Given the description of an element on the screen output the (x, y) to click on. 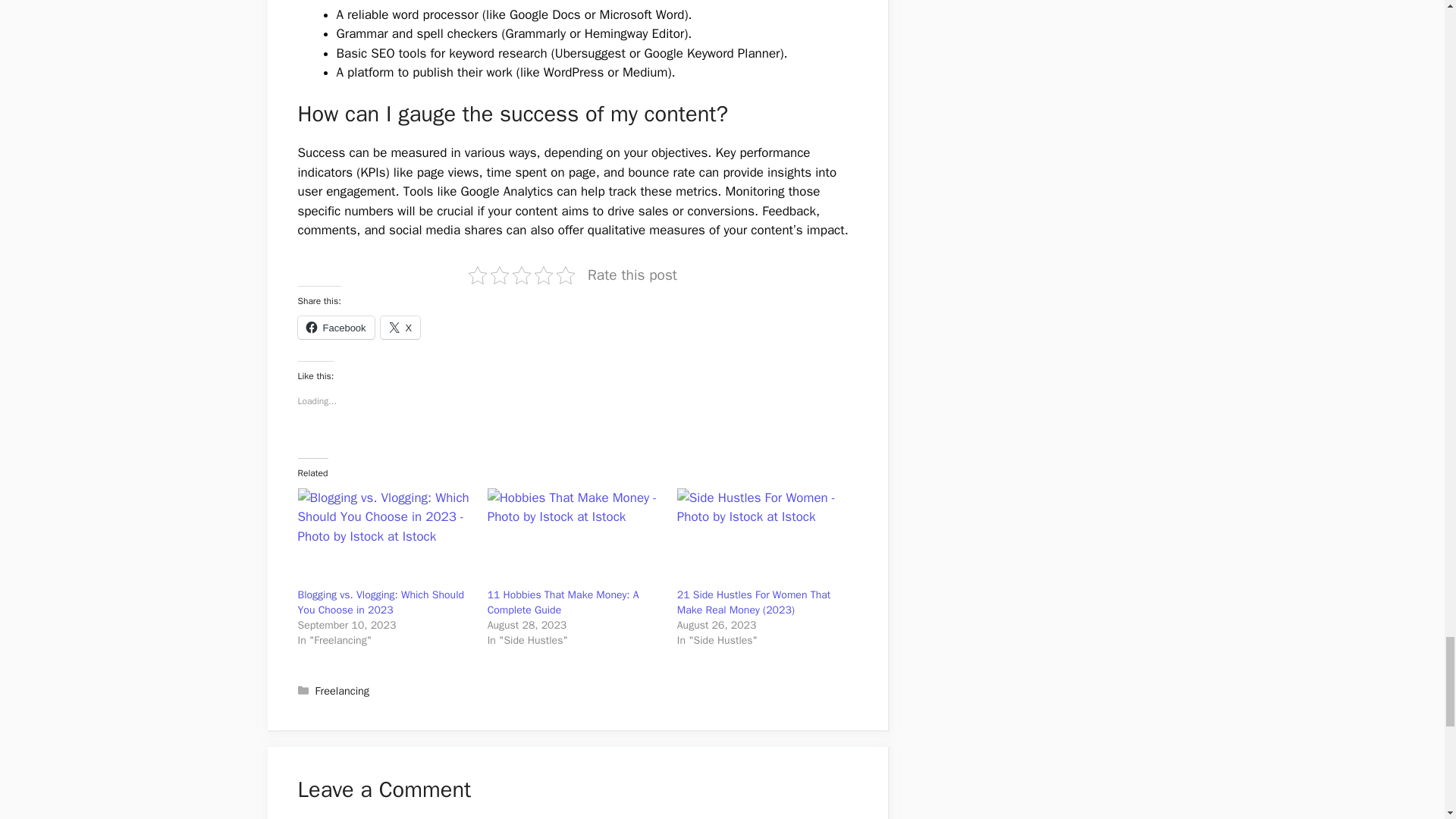
X (400, 327)
Blogging vs. Vlogging: Which Should You Choose in 2023 (380, 602)
Facebook (335, 327)
